Given the description of an element on the screen output the (x, y) to click on. 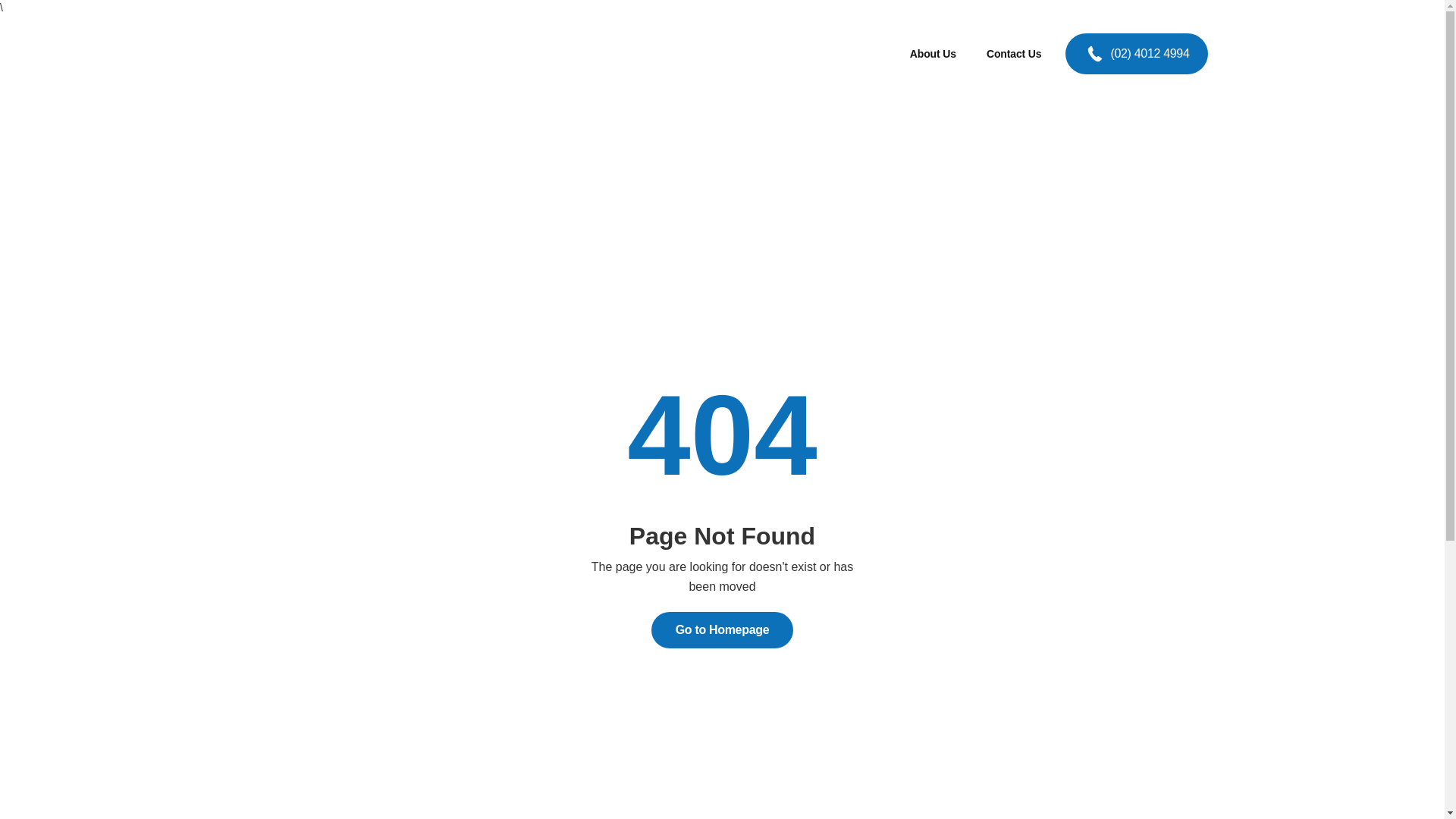
(02) 4012 4994 Element type: text (1136, 53)
About Us Element type: text (938, 53)
Go to Homepage Element type: text (722, 629)
Contact Us Element type: text (1019, 53)
